Given the description of an element on the screen output the (x, y) to click on. 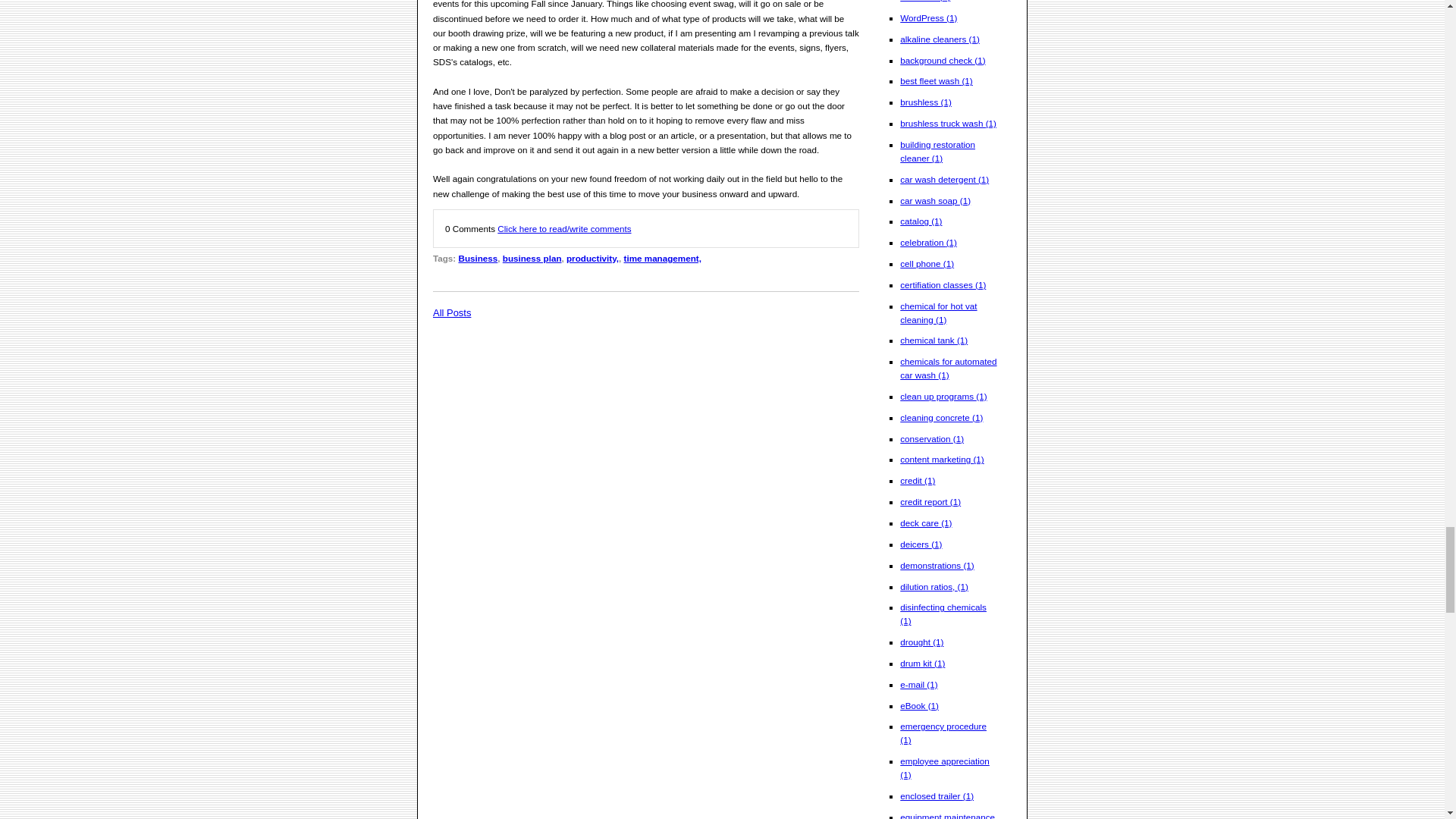
All Posts (645, 313)
Business (477, 257)
time management, (662, 257)
business plan (532, 257)
productivity, (592, 257)
